Given the description of an element on the screen output the (x, y) to click on. 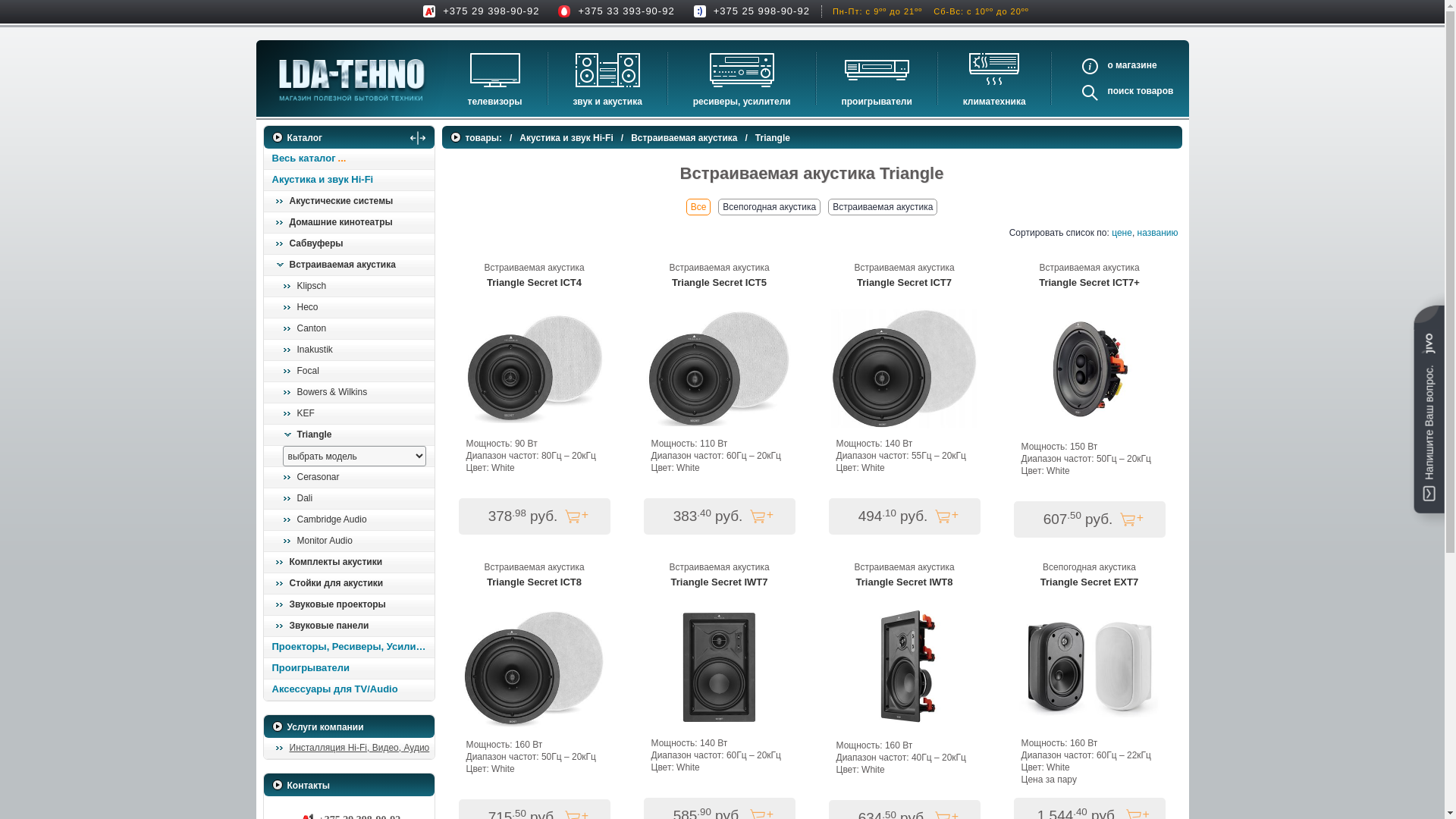
Inakustik Element type: text (352, 349)
+375 25 998-90-92 Element type: text (767, 11)
Klipsch Element type: text (352, 286)
Triangle Element type: text (352, 434)
+375 33 393-90-92 Element type: text (631, 11)
Monitor Audio Element type: text (352, 541)
Focal Element type: text (352, 371)
Cerasonar Element type: text (352, 477)
Canton Element type: text (352, 328)
Dali Element type: text (352, 498)
KEF Element type: text (352, 413)
Bowers & Wilkins Element type: text (352, 392)
Cambridge Audio Element type: text (352, 519)
+375 29 398-90-92 Element type: text (496, 11)
Heco Element type: text (352, 307)
